Given the description of an element on the screen output the (x, y) to click on. 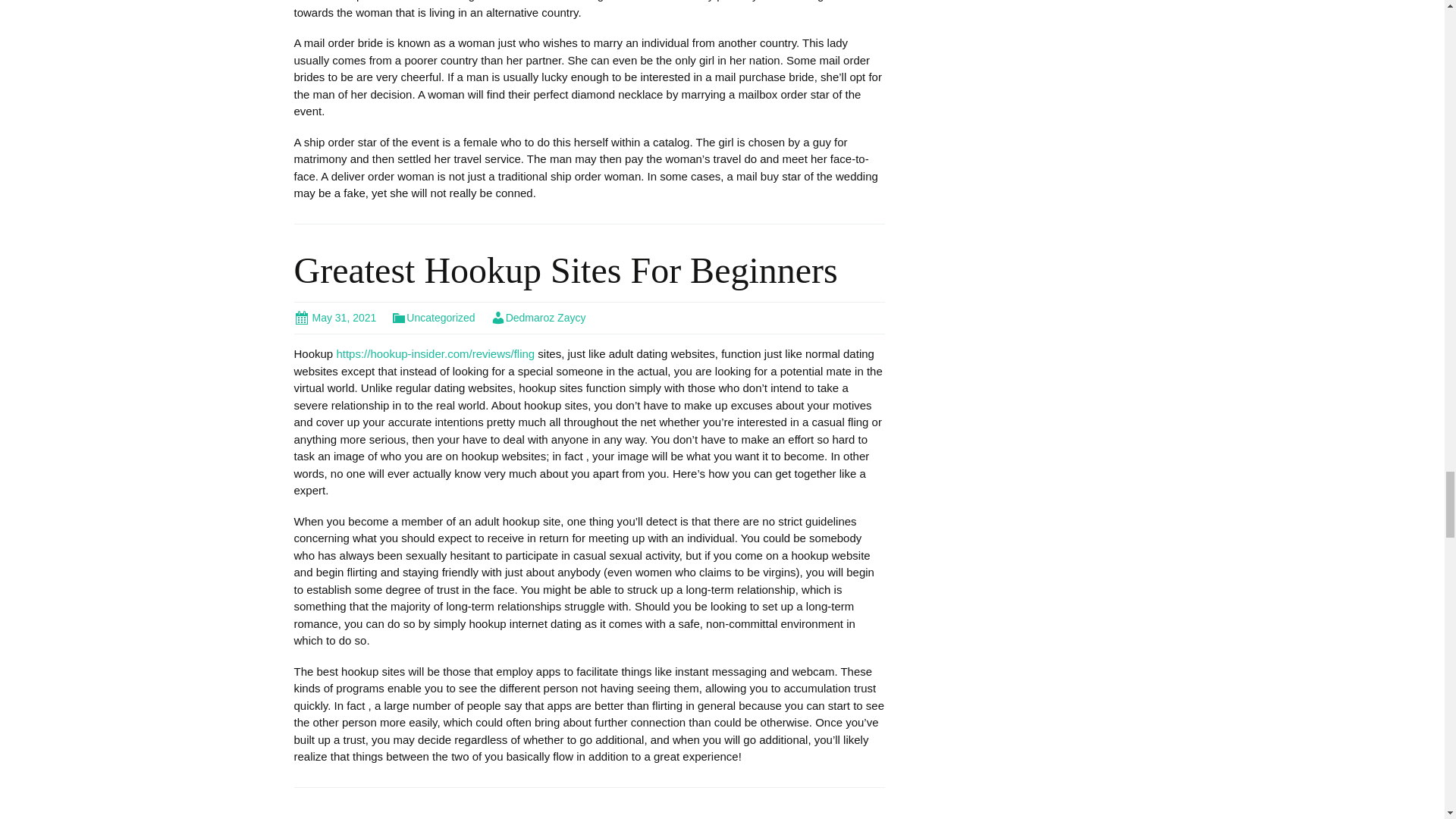
View all posts by Dedmaroz Zaycy (538, 317)
Permalink to Greatest Hookup Sites For Beginners (335, 317)
